Given the description of an element on the screen output the (x, y) to click on. 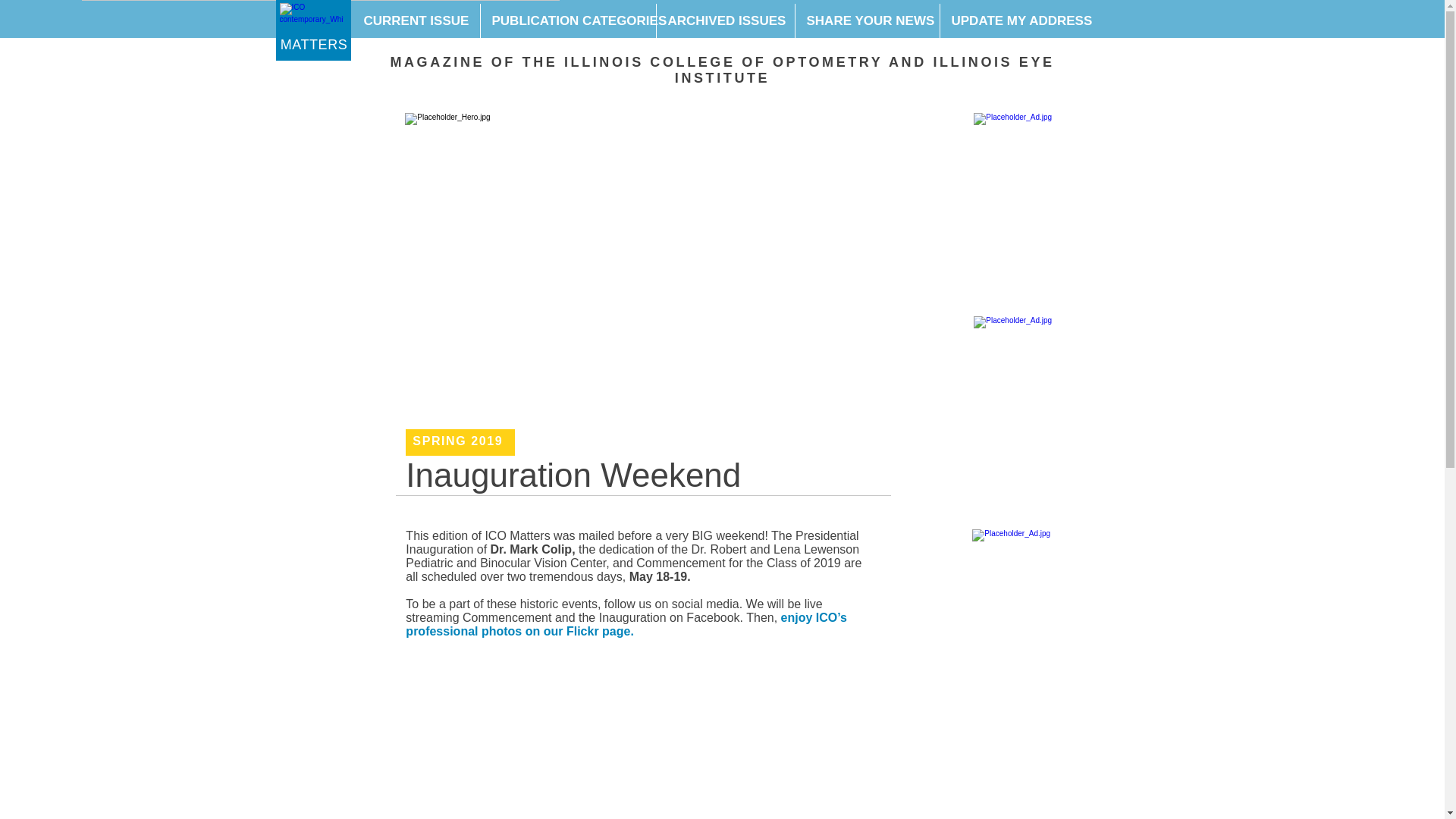
UPDATE MY ADDRESS (1015, 21)
SHARE YOUR NEWS (866, 21)
Donor-Corner-1--scroll-image-Summer-2024.jpg (1088, 414)
ARCHIVED ISSUES (724, 21)
Donor-Corner-2--scroll-image-Summer-2024.jpg (1085, 627)
CURRENT ISSUE (415, 21)
